Given the description of an element on the screen output the (x, y) to click on. 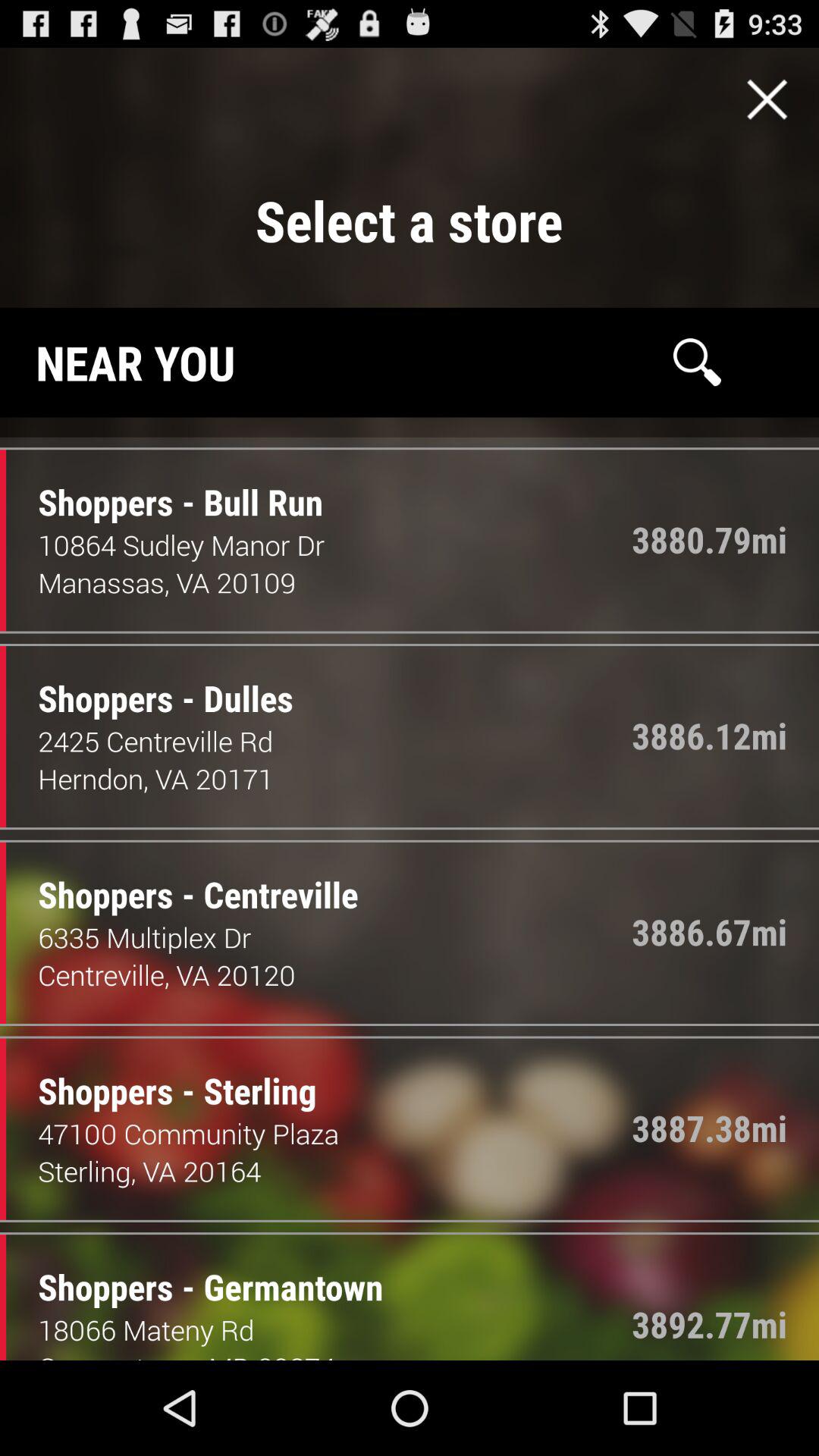
click the 3892.77mi item (709, 1324)
